Given the description of an element on the screen output the (x, y) to click on. 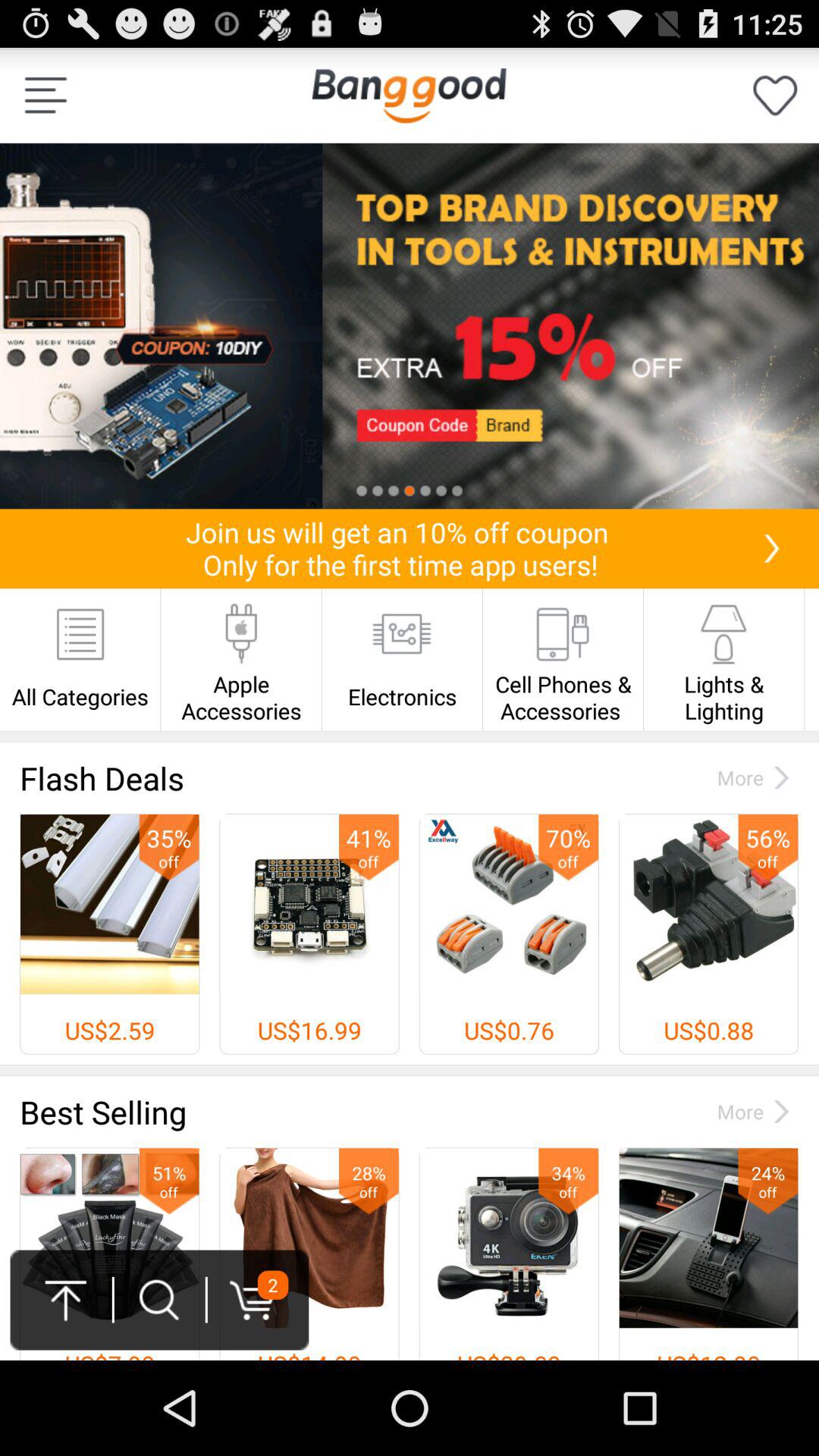
list the articles (45, 95)
